Given the description of an element on the screen output the (x, y) to click on. 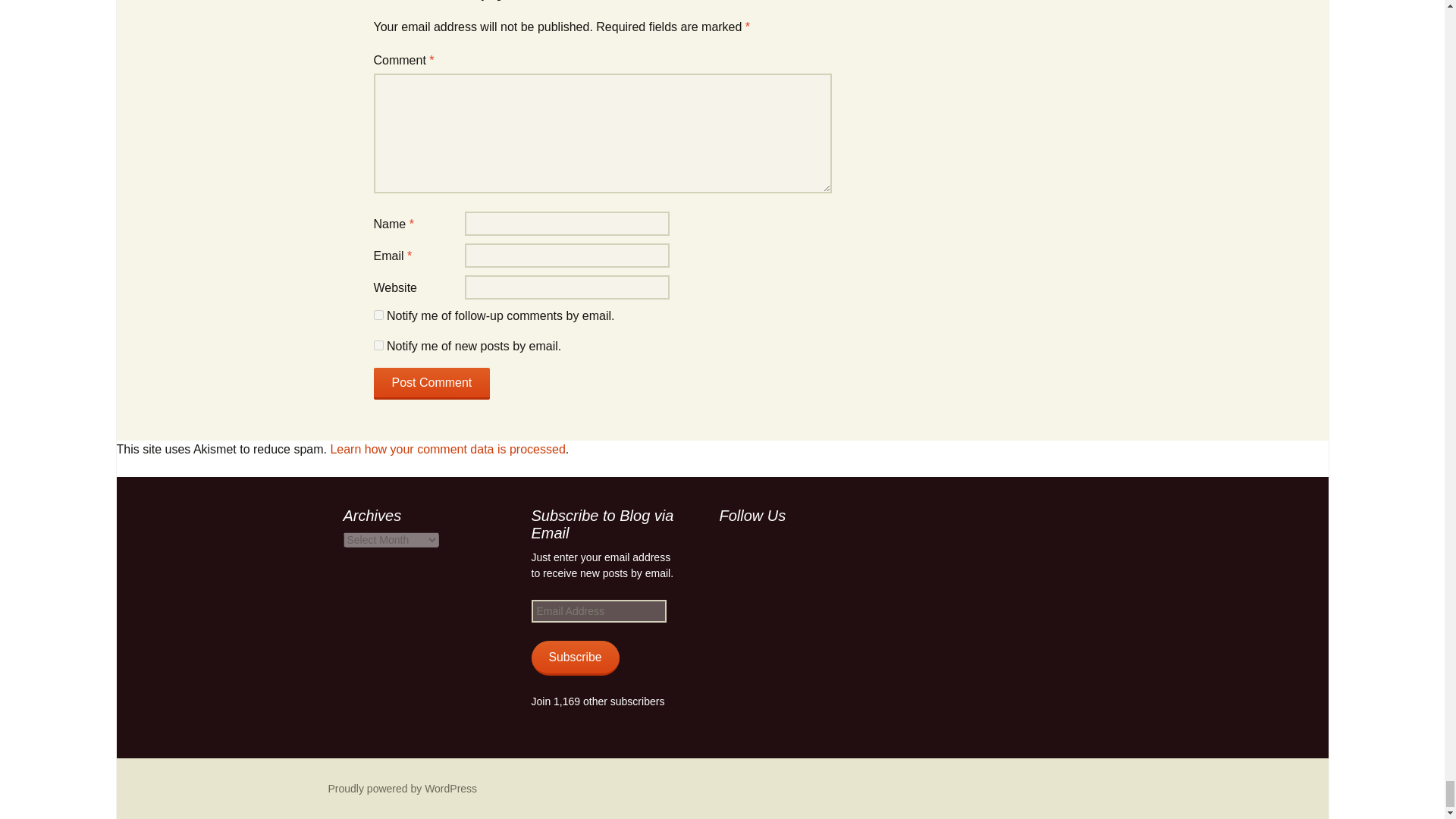
Post Comment (430, 383)
subscribe (377, 315)
subscribe (377, 345)
